Given the description of an element on the screen output the (x, y) to click on. 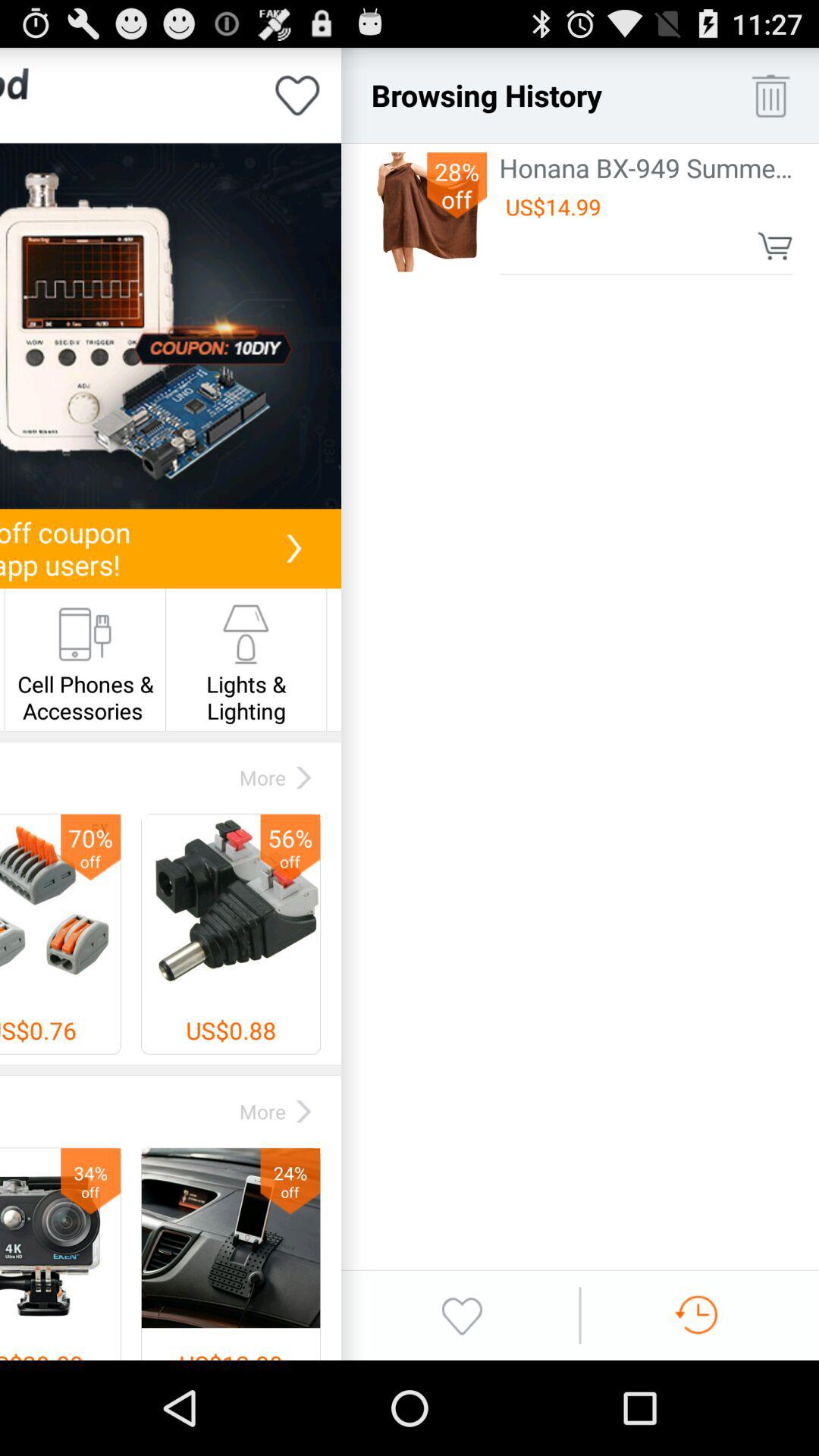
add item to cart (774, 245)
